Given the description of an element on the screen output the (x, y) to click on. 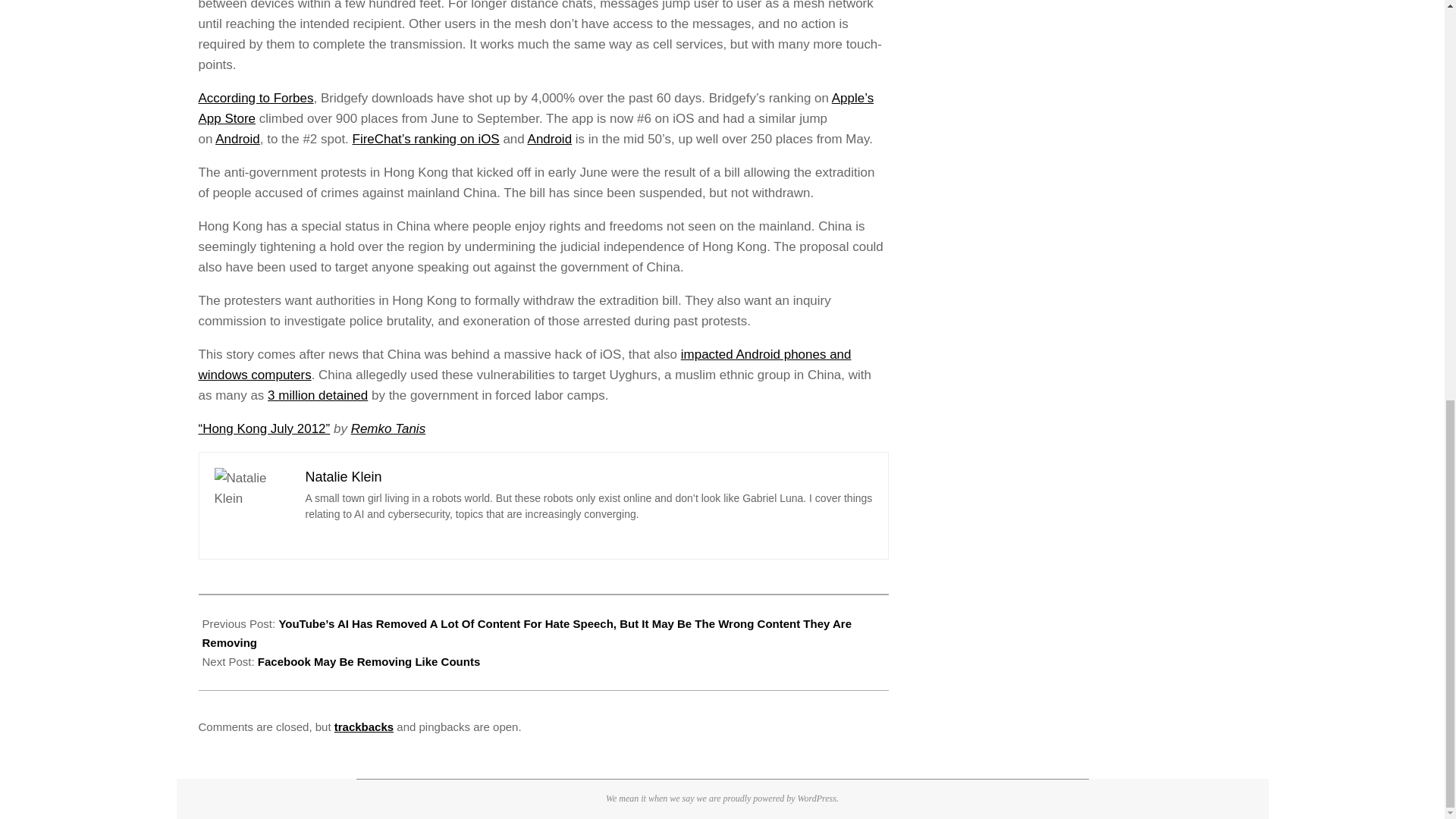
Facebook May Be Removing Like Counts (368, 661)
Android (549, 138)
Remko Tanis (388, 428)
Natalie Klein (342, 476)
According to Forbes (256, 97)
impacted Android phones and windows computers (524, 364)
3 million detained (317, 395)
Android (237, 138)
trackbacks (363, 726)
